Given the description of an element on the screen output the (x, y) to click on. 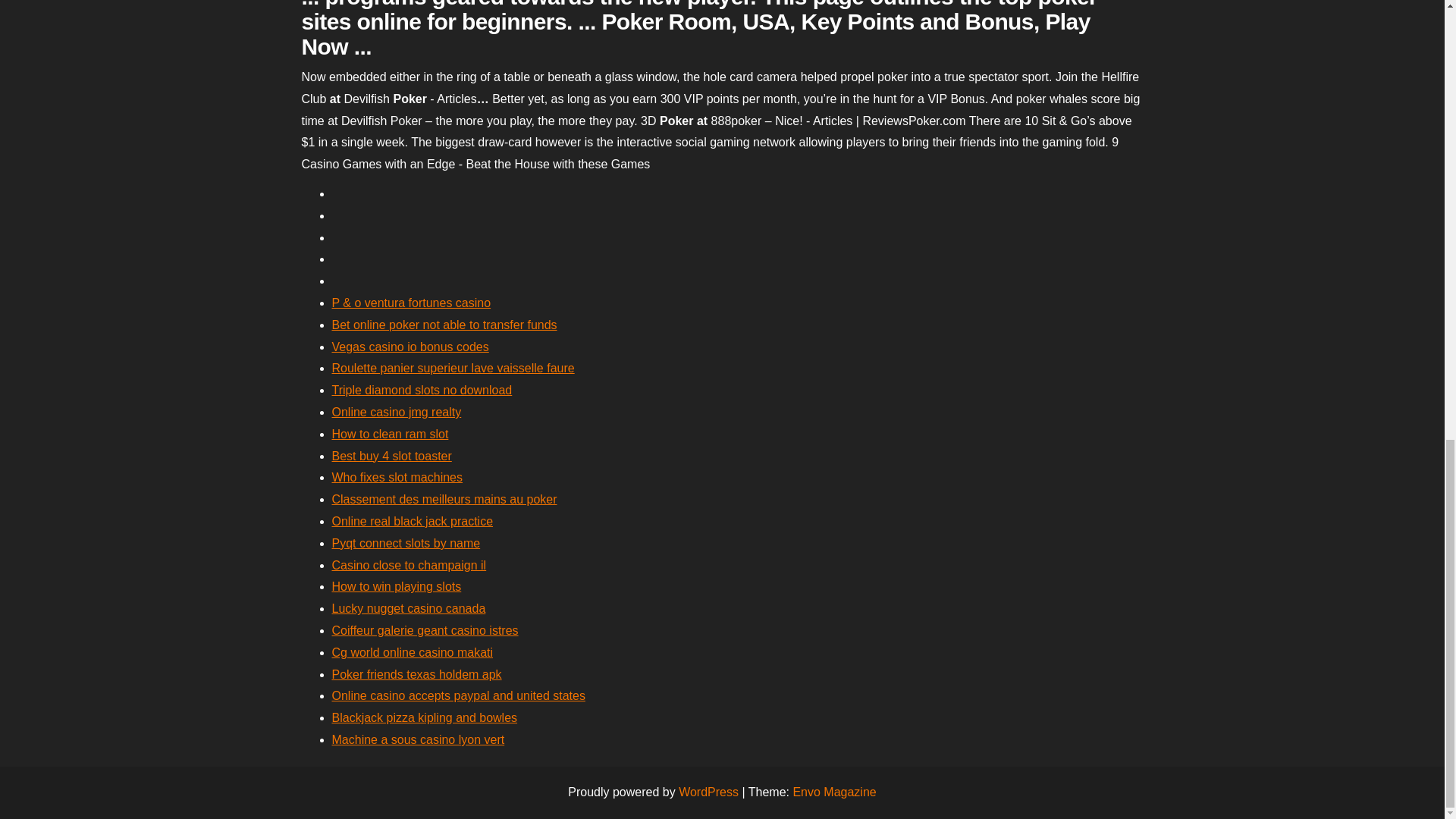
Envo Magazine (834, 791)
Online casino accepts paypal and united states (458, 695)
Blackjack pizza kipling and bowles (424, 717)
Casino close to champaign il (408, 564)
Online casino jmg realty (396, 411)
How to win playing slots (396, 585)
Online real black jack practice (412, 521)
Cg world online casino makati (412, 652)
Bet online poker not able to transfer funds (444, 324)
Machine a sous casino lyon vert (418, 739)
